Given the description of an element on the screen output the (x, y) to click on. 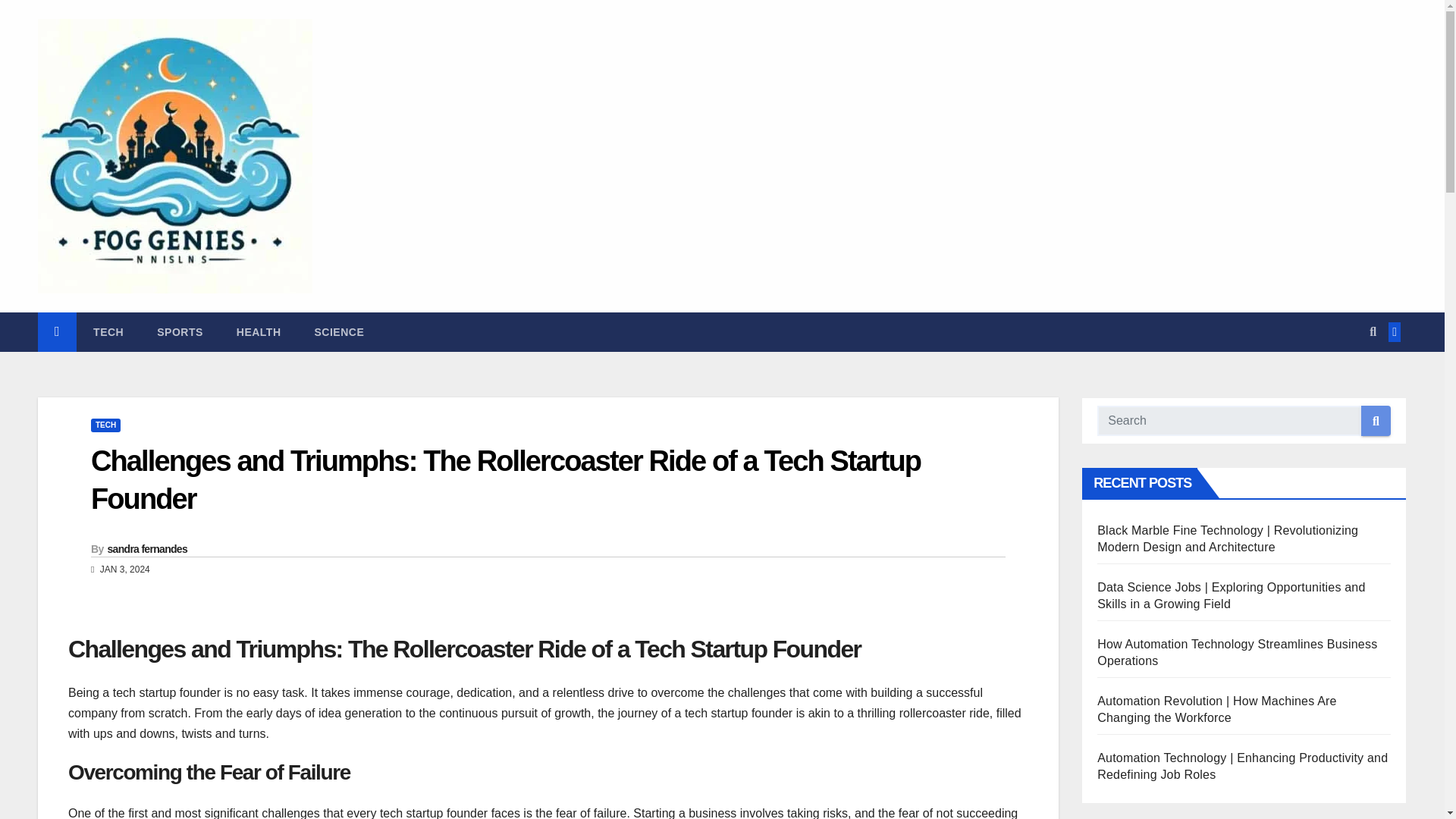
SPORTS (179, 332)
SCIENCE (339, 332)
HEALTH (258, 332)
Tech (108, 332)
sandra fernandes (147, 548)
Health (258, 332)
Sports (179, 332)
TECH (105, 425)
Science (339, 332)
